Given the description of an element on the screen output the (x, y) to click on. 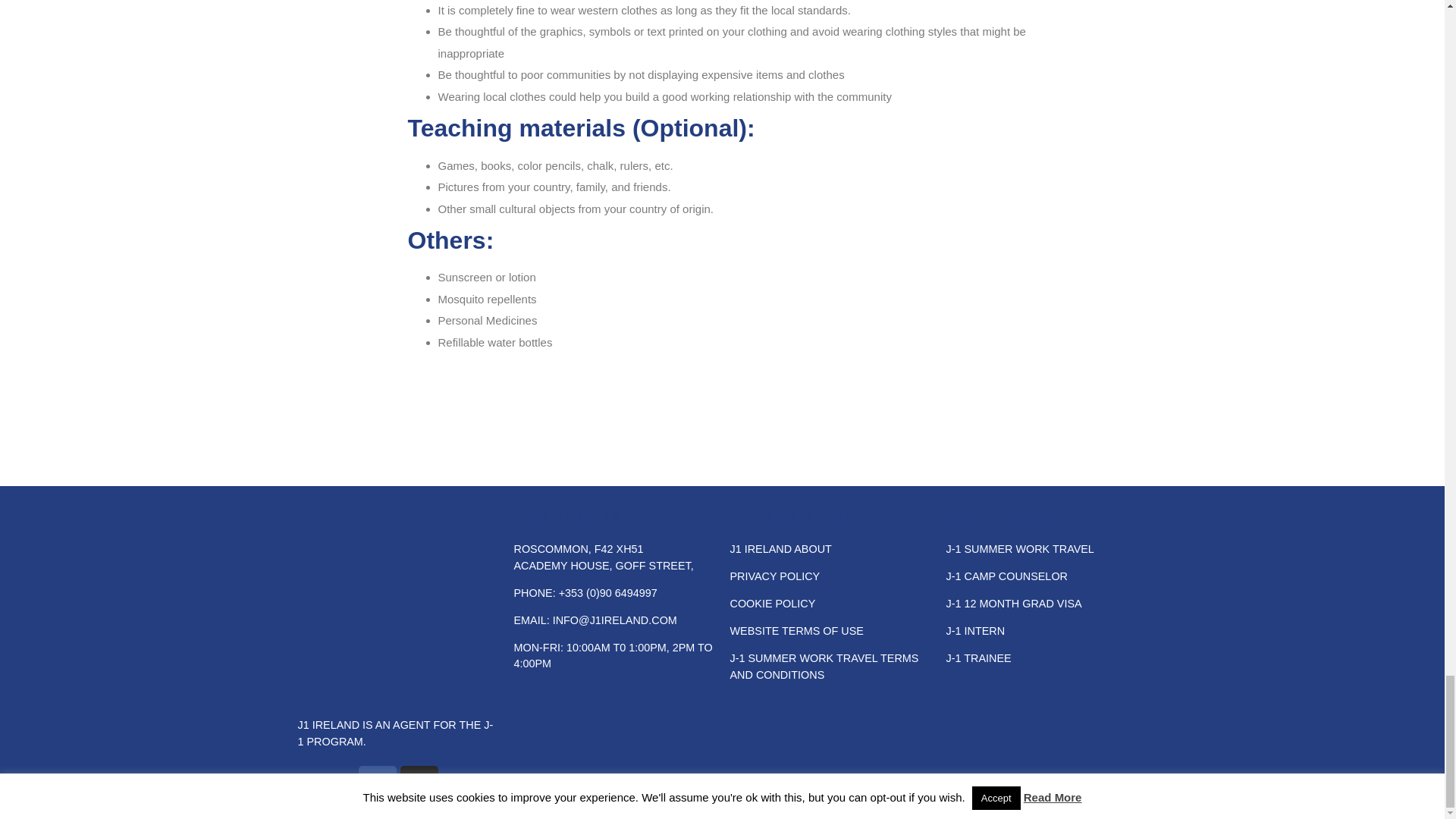
J-1 CAMP COUNSELOR (1006, 576)
PRIVACY POLICY (774, 576)
COOKIE POLICY (772, 603)
J-1 SUMMER WORK TRAVEL (1020, 548)
WEBSITE TERMS OF USE (796, 630)
J-1 TRAINEE (978, 657)
J-1 SUMMER WORK TRAVEL TERMS AND CONDITIONS (823, 665)
J-1 INTERN (976, 630)
J1 IRELAND ABOUT (780, 548)
